Given the description of an element on the screen output the (x, y) to click on. 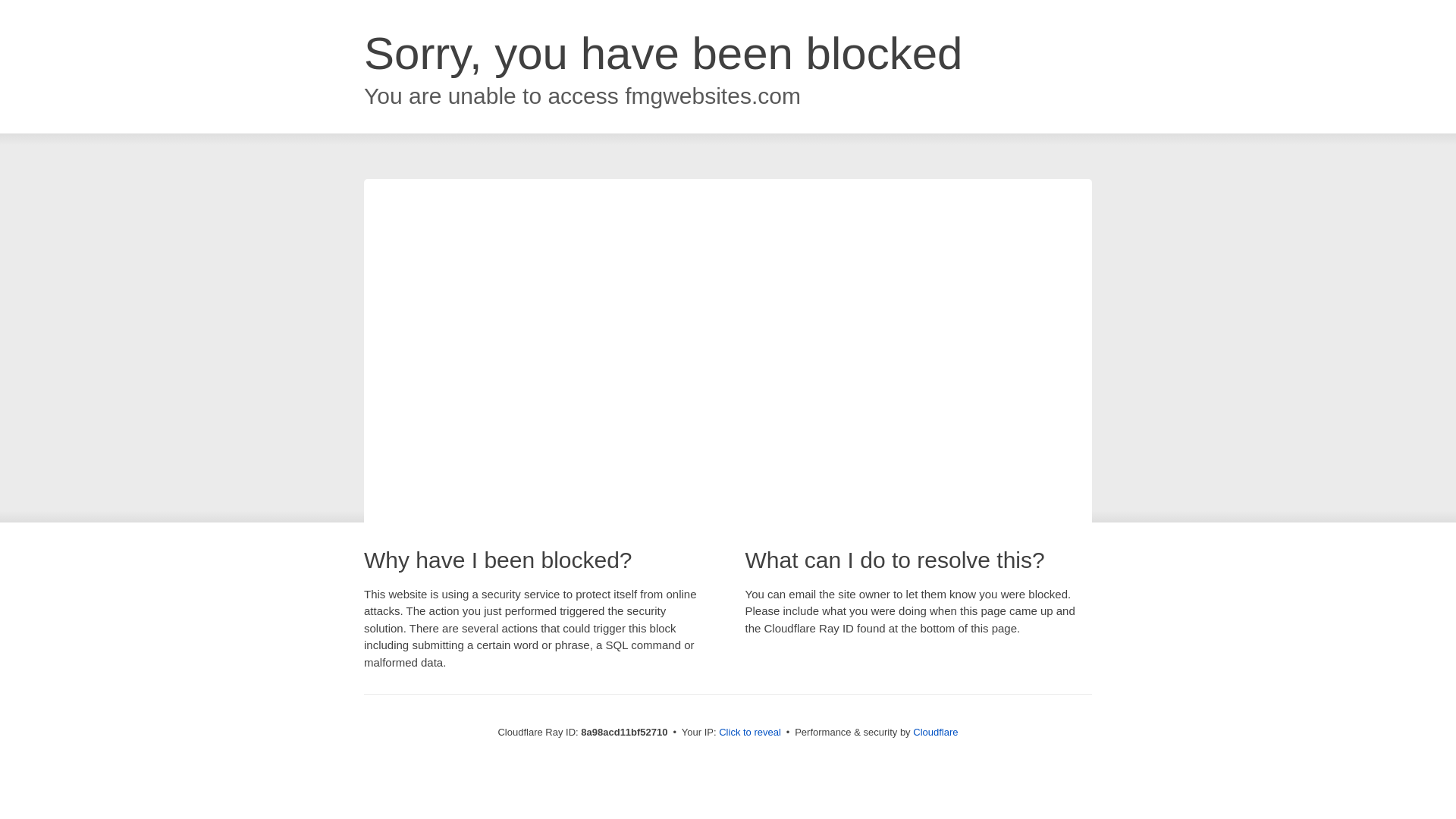
Click to reveal (749, 732)
Cloudflare (935, 731)
